Given the description of an element on the screen output the (x, y) to click on. 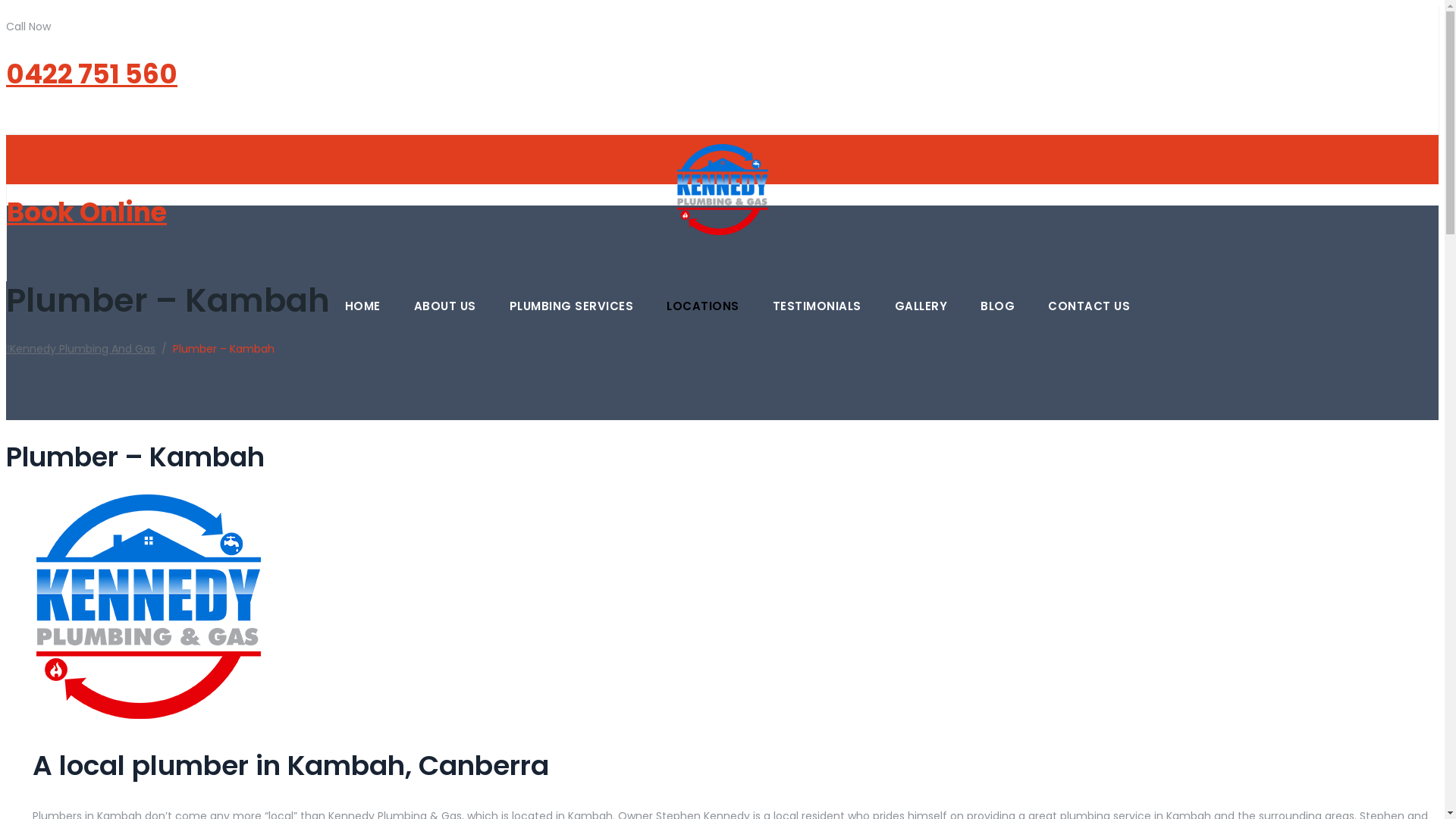
LOCATIONS Element type: text (702, 305)
ABOUT US Element type: text (445, 305)
CONTACT US Element type: text (1088, 305)
HOME Element type: text (362, 305)
BLOG Element type: text (997, 305)
Kennedy Plumbing And Gas Element type: text (80, 348)
Kennedy Plumbing and Gas Element type: hover (722, 122)
GALLERY Element type: text (920, 305)
PLUMBING SERVICES Element type: text (571, 305)
Book Online Element type: text (86, 211)
TESTIMONIALS Element type: text (816, 305)
0422 751 560 Element type: text (91, 73)
